Given the description of an element on the screen output the (x, y) to click on. 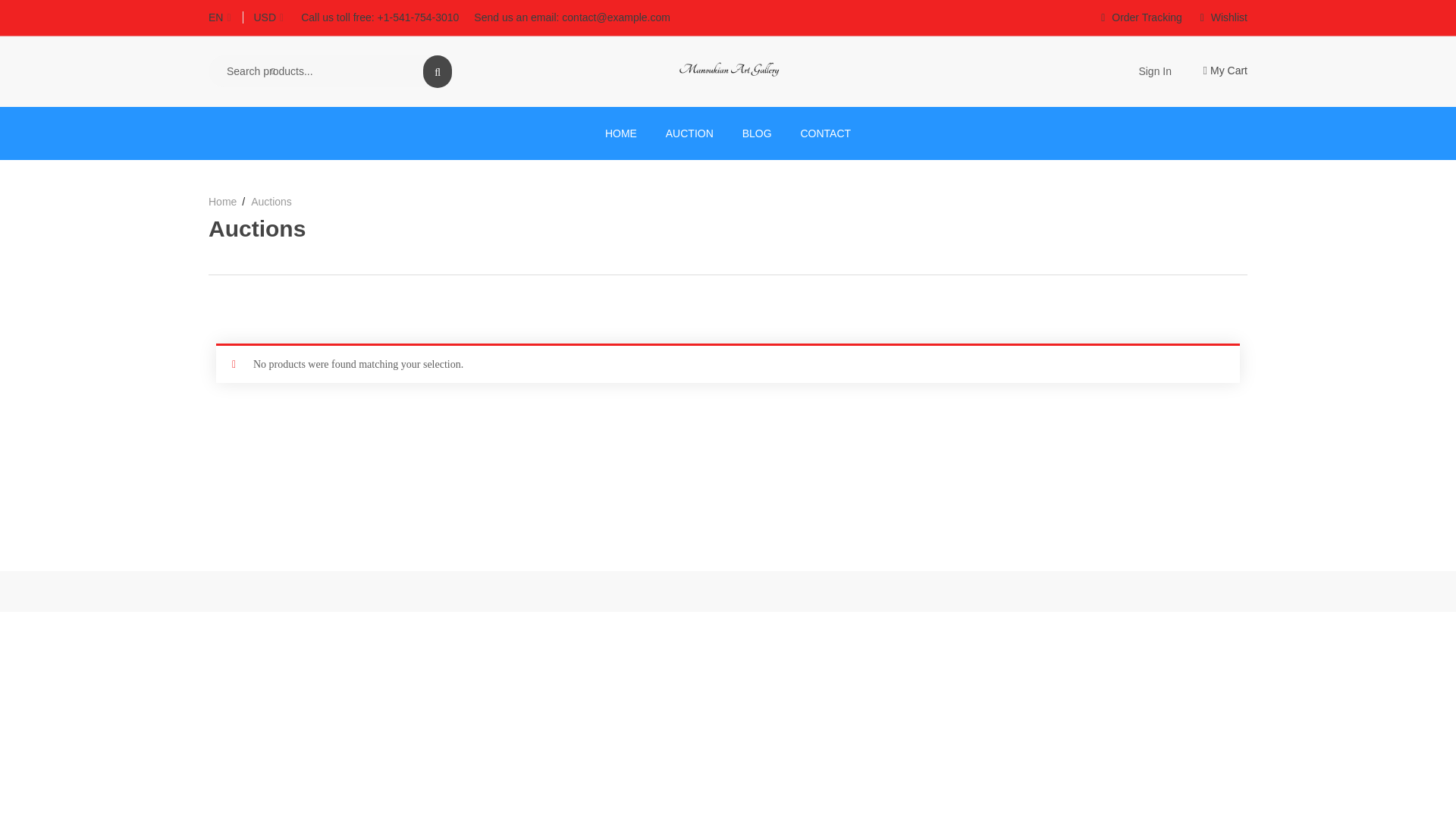
USD (274, 17)
HOME (620, 132)
BLOG (756, 132)
CONTACT (825, 132)
Sign In (1155, 71)
Wishlist (1223, 17)
Login (553, 484)
Home (226, 201)
AUCTION (689, 132)
Order Tracking (1142, 17)
EN (225, 17)
My Cart (1214, 70)
